Given the description of an element on the screen output the (x, y) to click on. 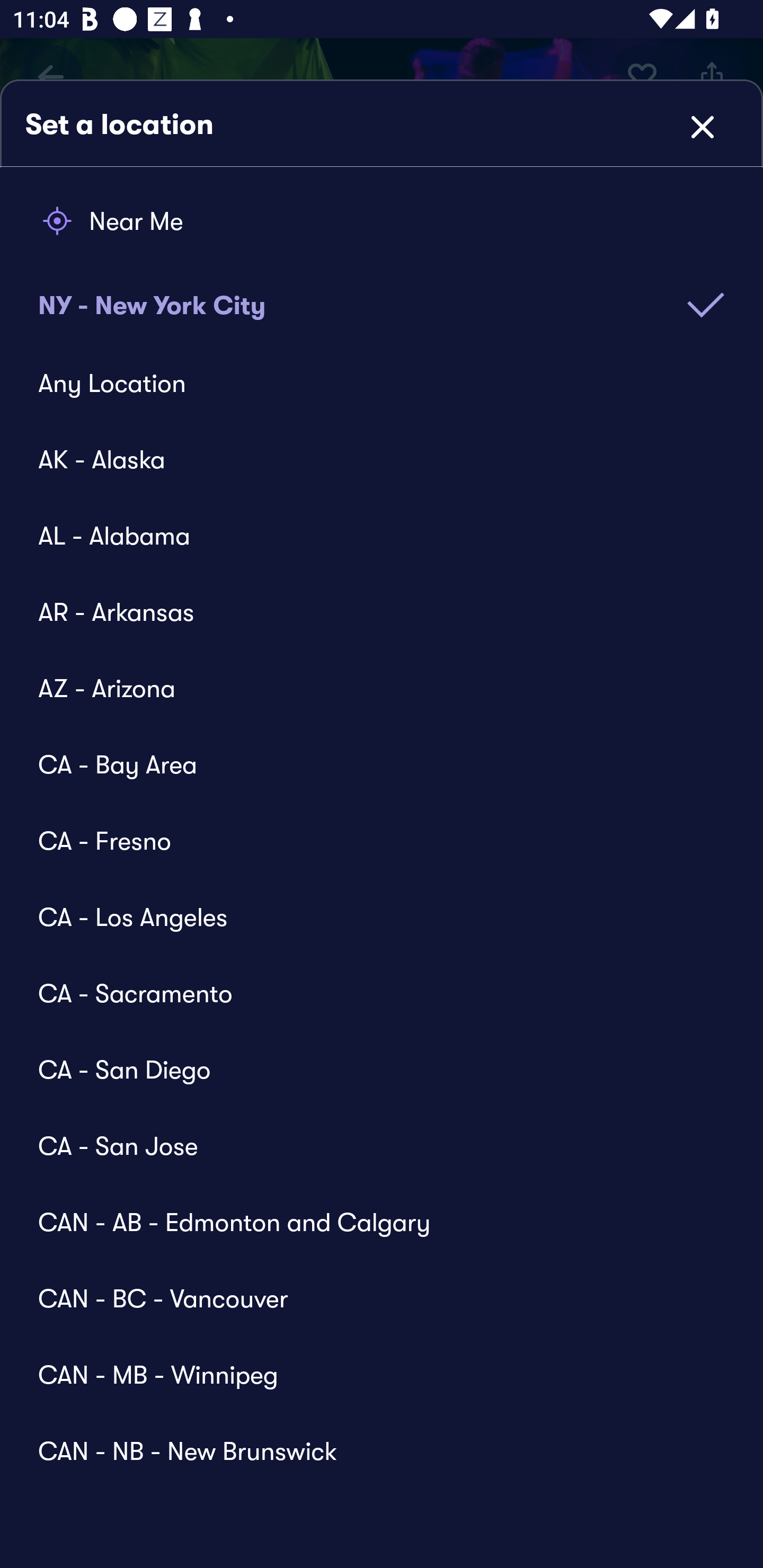
Near Me (381, 220)
NY - New York City (381, 292)
Any Location (368, 382)
AK - Alaska (368, 459)
AL - Alabama (368, 535)
AR - Arkansas (368, 611)
AZ - Arizona (368, 687)
CA - Bay Area (368, 763)
CA - Fresno (368, 840)
CA - Los Angeles (368, 916)
CA - Sacramento (368, 992)
CA - San Diego (368, 1069)
CA - San Jose (368, 1145)
CAN - AB - Edmonton and Calgary (368, 1221)
CAN - BC - Vancouver (368, 1297)
CAN - MB - Winnipeg (368, 1373)
CAN - NB - New Brunswick (368, 1440)
